Given the description of an element on the screen output the (x, y) to click on. 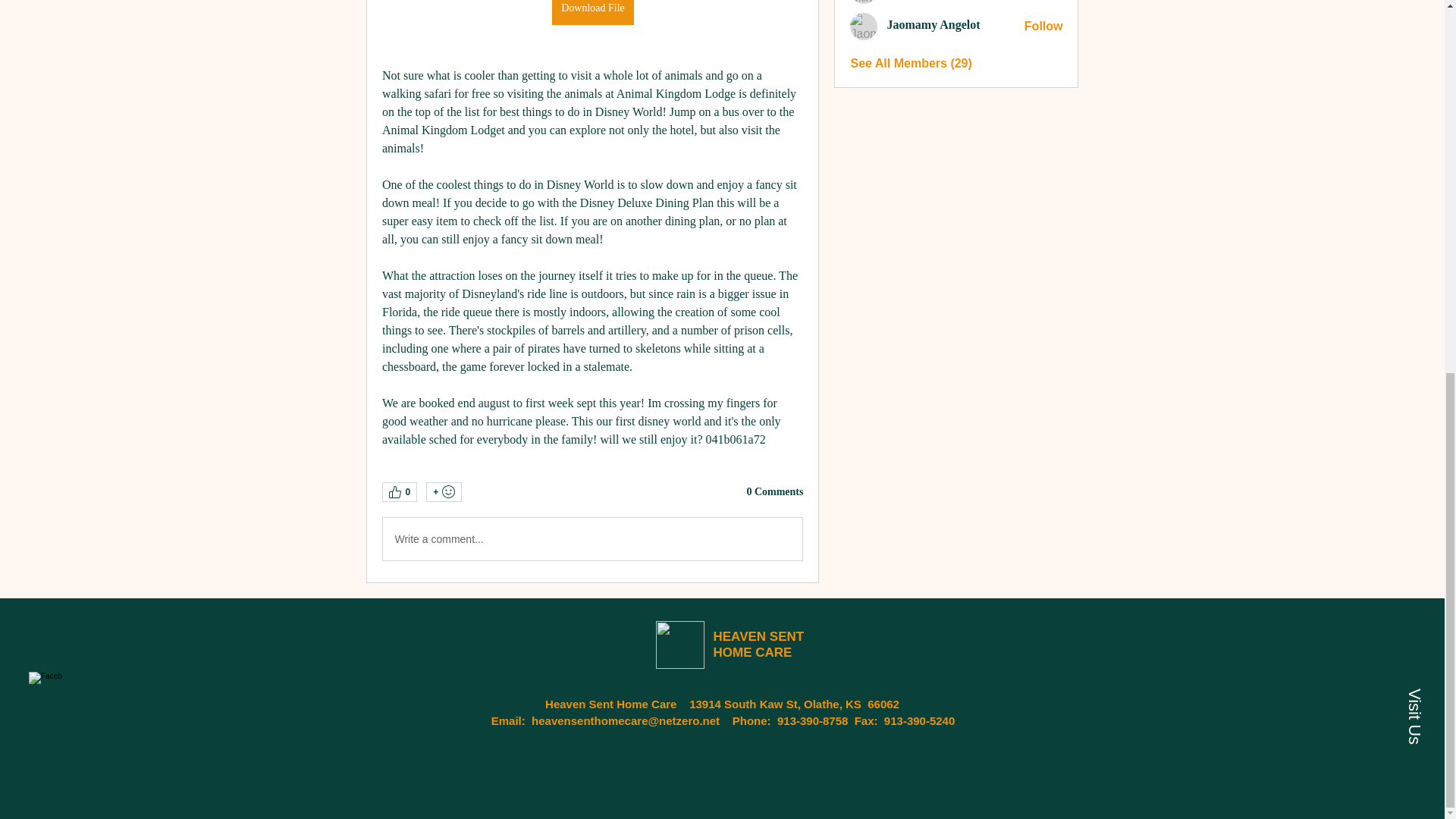
Download File (592, 12)
HEAVEN SENT HOME CARE (758, 644)
Write a comment... (591, 538)
Picture1.png (679, 644)
Follow (1043, 26)
Maybin Mupeta (863, 2)
Jaomamy Angelot (932, 24)
0 Comments (774, 491)
Jaomamy Angelot (863, 26)
